Given the description of an element on the screen output the (x, y) to click on. 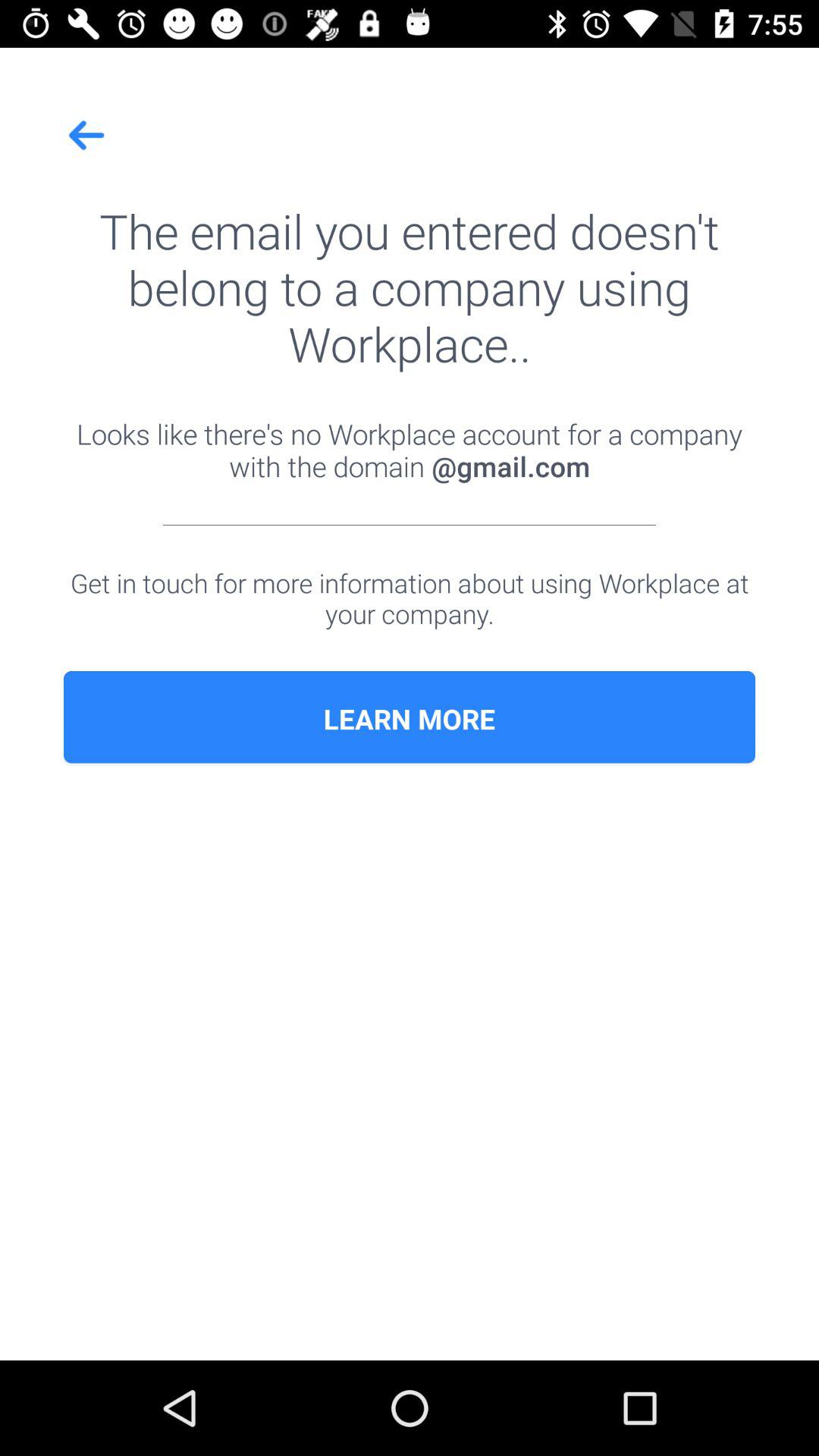
tap item below the get in touch (409, 718)
